Given the description of an element on the screen output the (x, y) to click on. 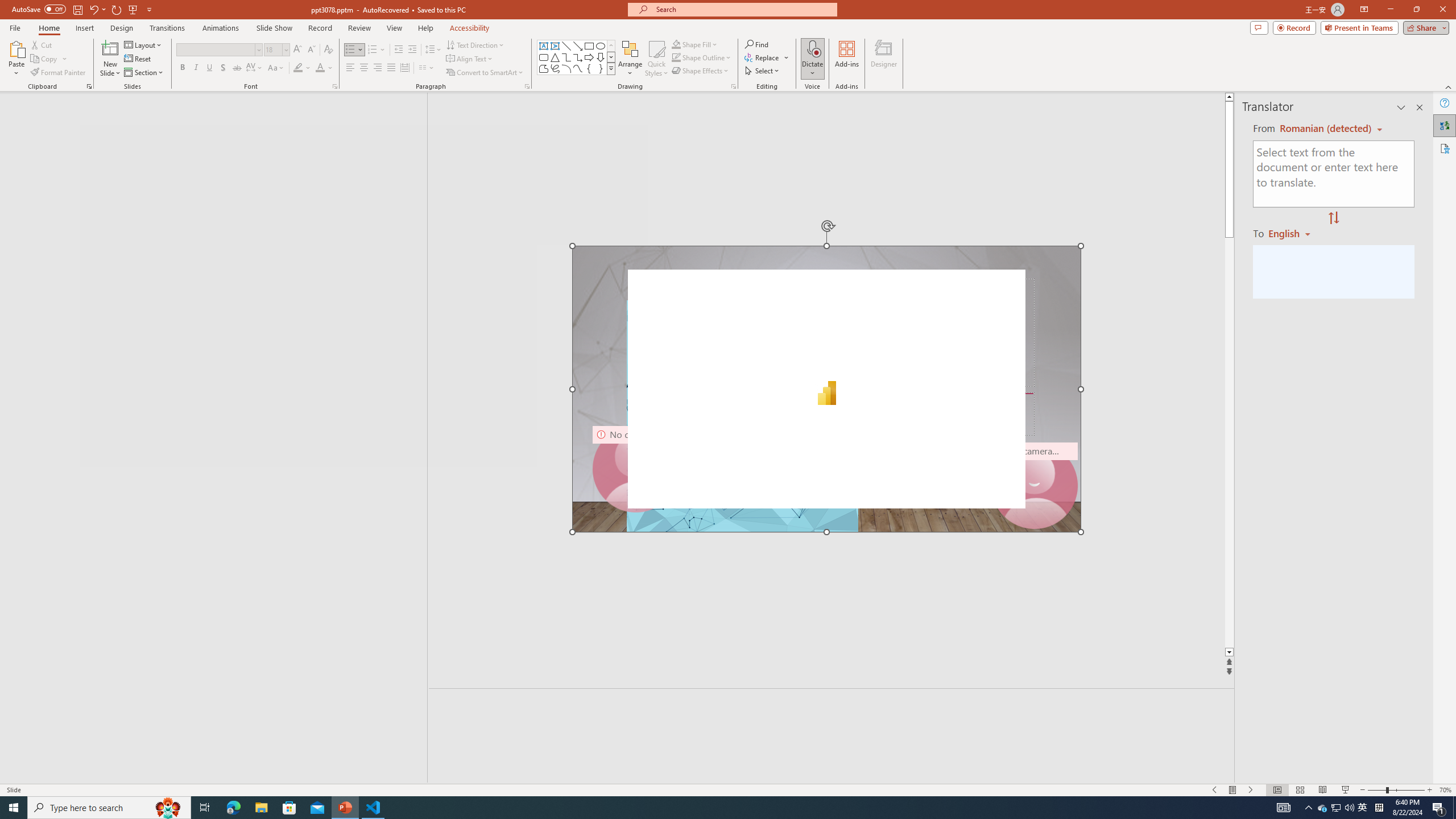
Add-in 17 (825, 388)
Romanian (1293, 232)
